Given the description of an element on the screen output the (x, y) to click on. 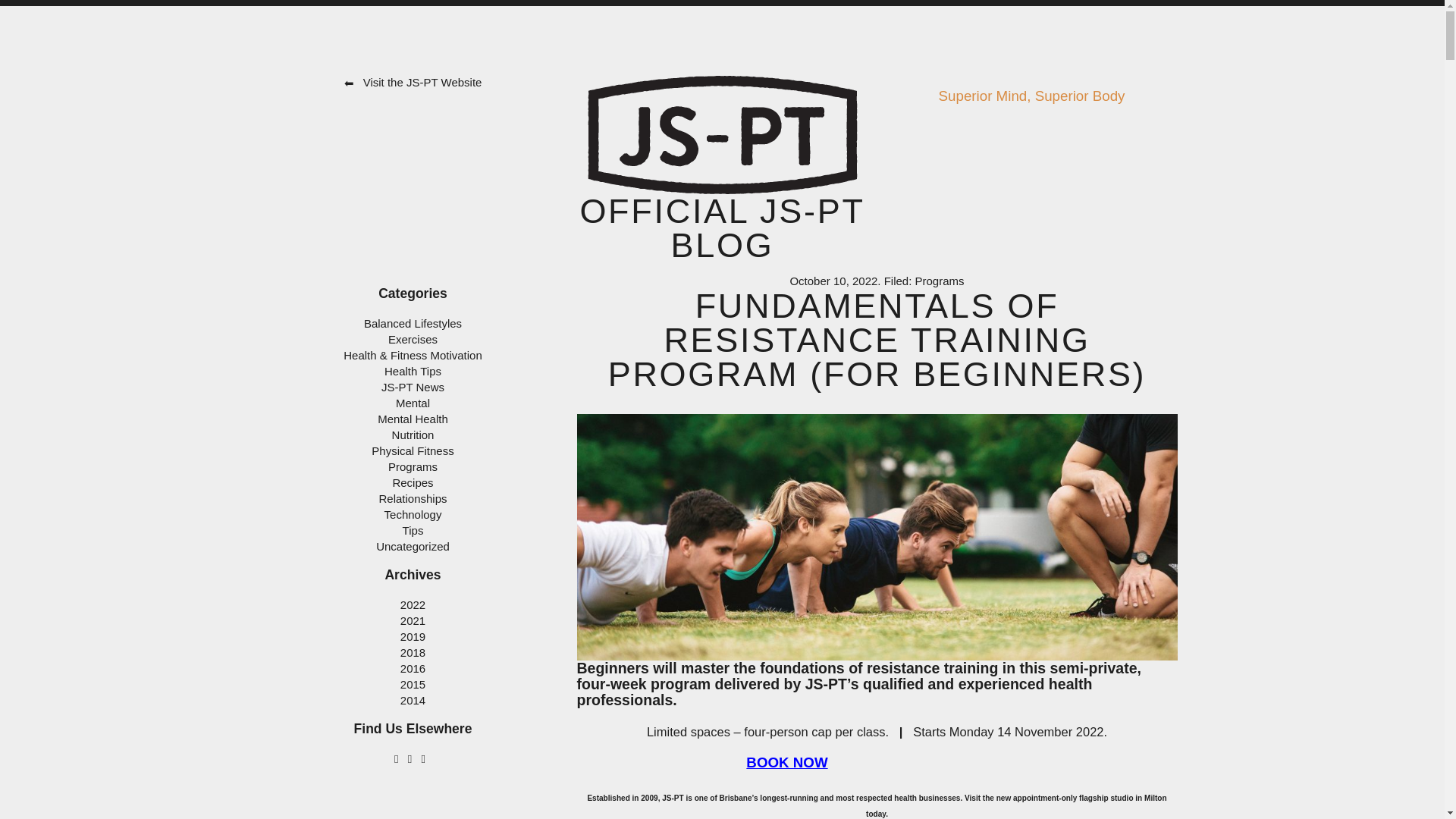
2015 (412, 684)
Programs (413, 466)
JS-PT News (412, 386)
2016 (412, 667)
Tips (413, 530)
Nutrition (412, 434)
2018 (412, 652)
2014 (412, 699)
Exercises (413, 338)
2021 (412, 620)
Technology (413, 513)
BOOK NOW (786, 762)
Balanced Lifestyles (412, 323)
Relationships (412, 498)
2019 (412, 635)
